Given the description of an element on the screen output the (x, y) to click on. 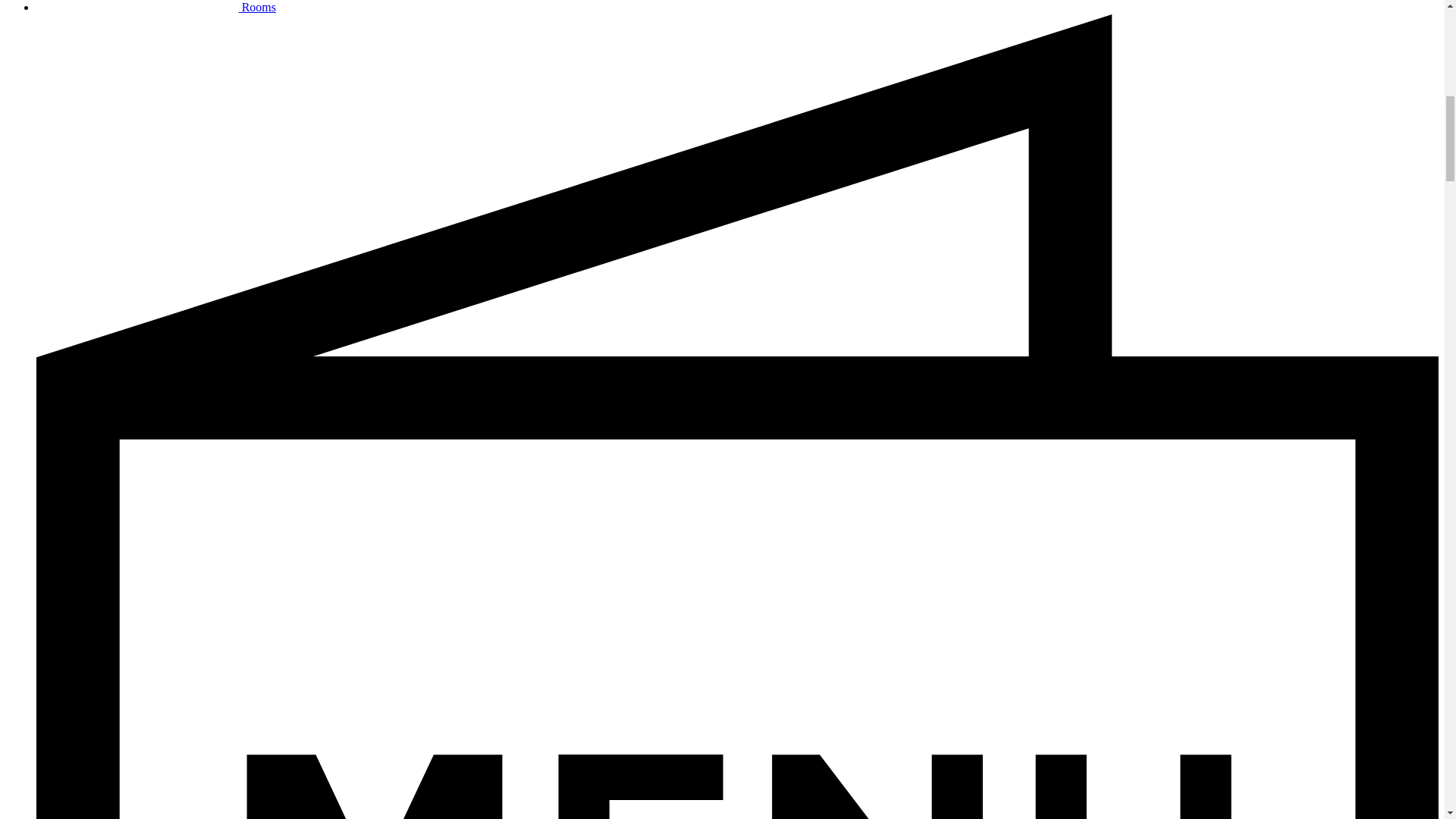
Rooms (156, 6)
Rooms (156, 6)
